Given the description of an element on the screen output the (x, y) to click on. 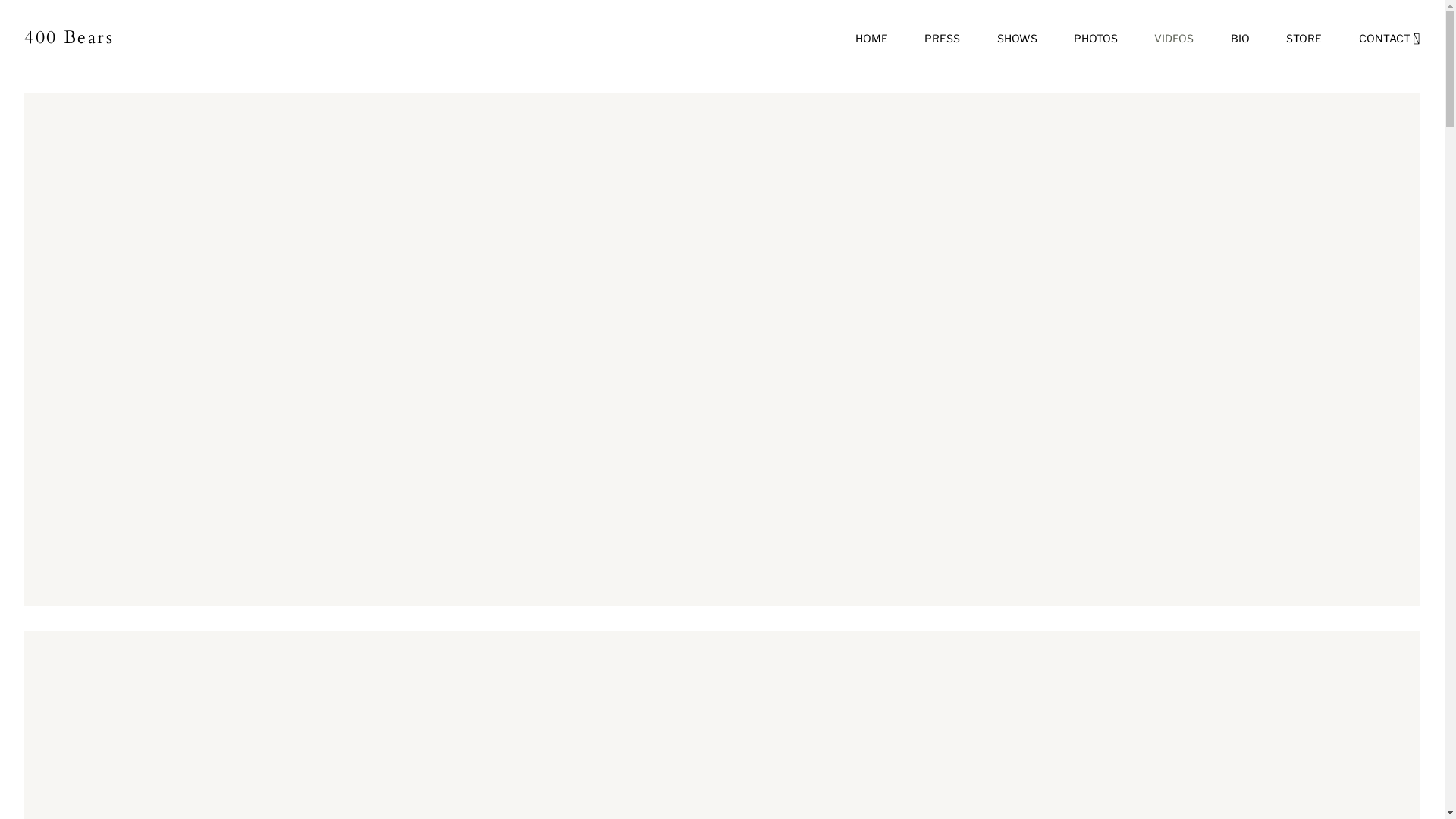
BIO Element type: text (1239, 38)
SHOWS Element type: text (1017, 38)
PRESS Element type: text (942, 38)
PHOTOS Element type: text (1095, 38)
CONTACT Element type: text (1389, 38)
HOME Element type: text (871, 38)
STORE Element type: text (1303, 38)
VIDEOS Element type: text (1173, 38)
400 Bears Element type: text (68, 37)
